Given the description of an element on the screen output the (x, y) to click on. 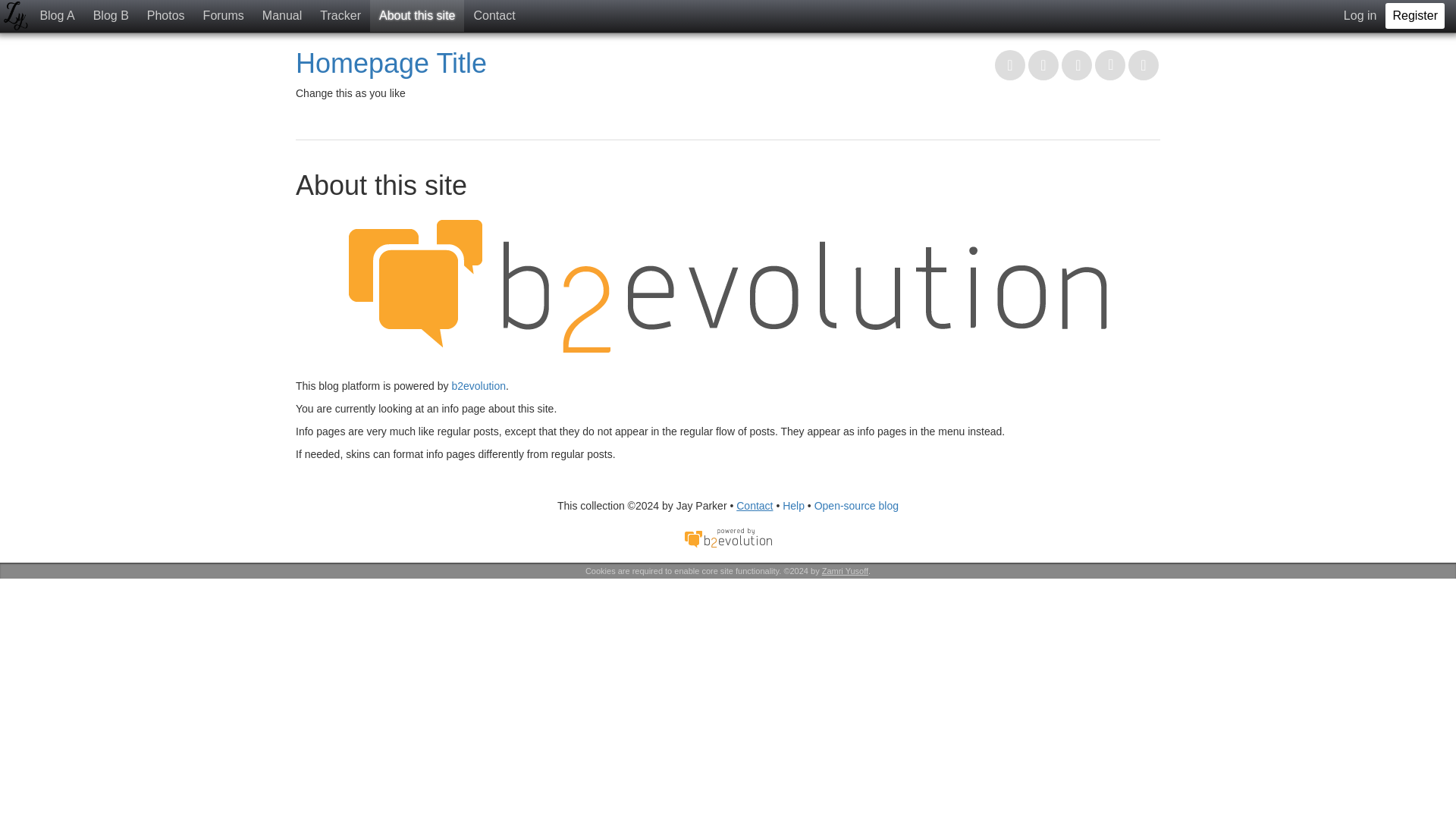
Zamri Yusoff (844, 570)
Manual (282, 15)
Manual Title (282, 15)
Public Blog (56, 15)
Contact (494, 15)
Forums Title (223, 15)
Contact (754, 505)
b2evolution CMS (727, 538)
Zamri Yusoff (15, 16)
Open-source blog (855, 505)
Help (794, 505)
Photos (165, 15)
b2evolution CMS (727, 537)
Log in (1360, 15)
Tracker Title (340, 15)
